Given the description of an element on the screen output the (x, y) to click on. 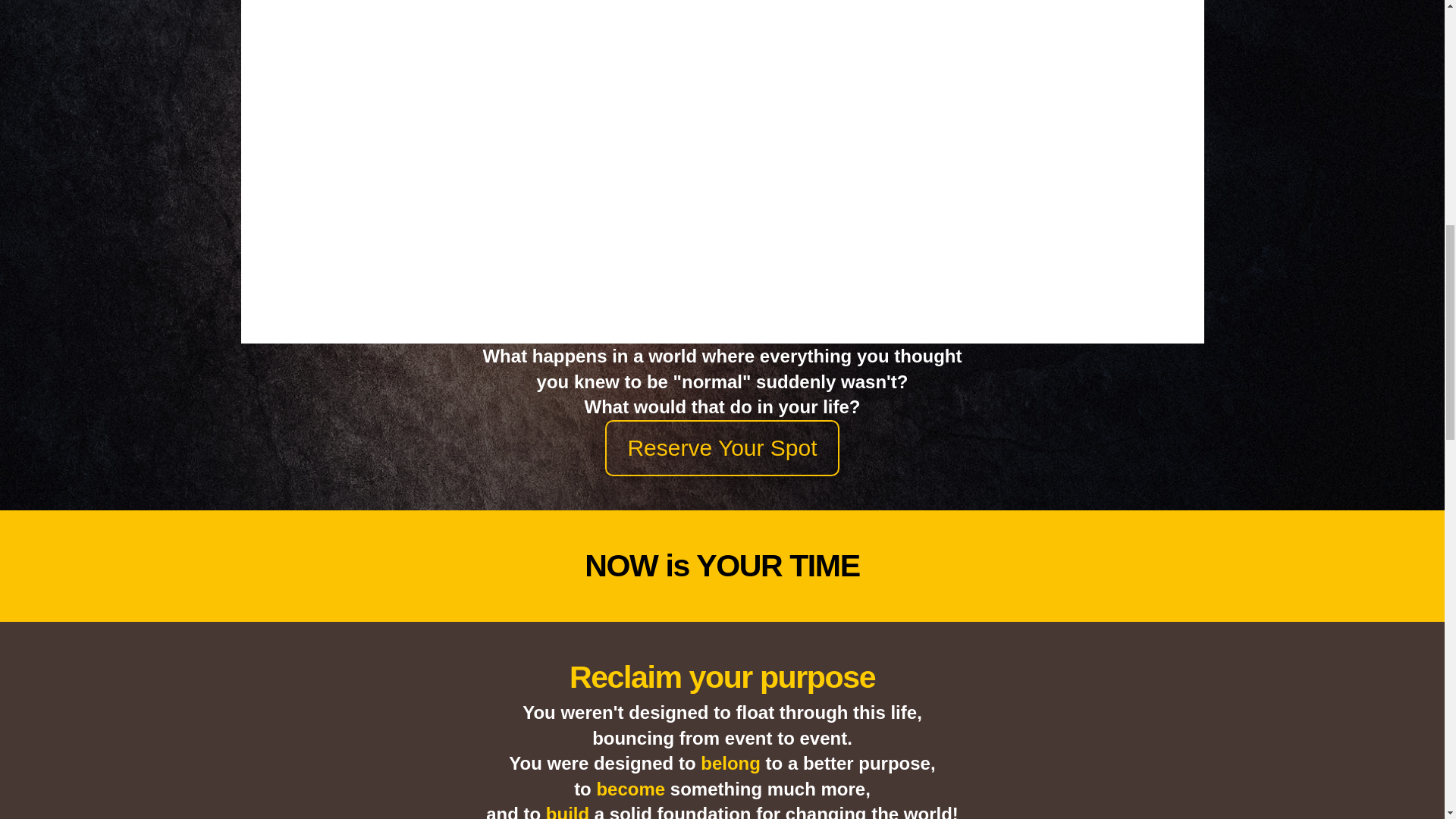
Reserve Your Spot (722, 447)
